Given the description of an element on the screen output the (x, y) to click on. 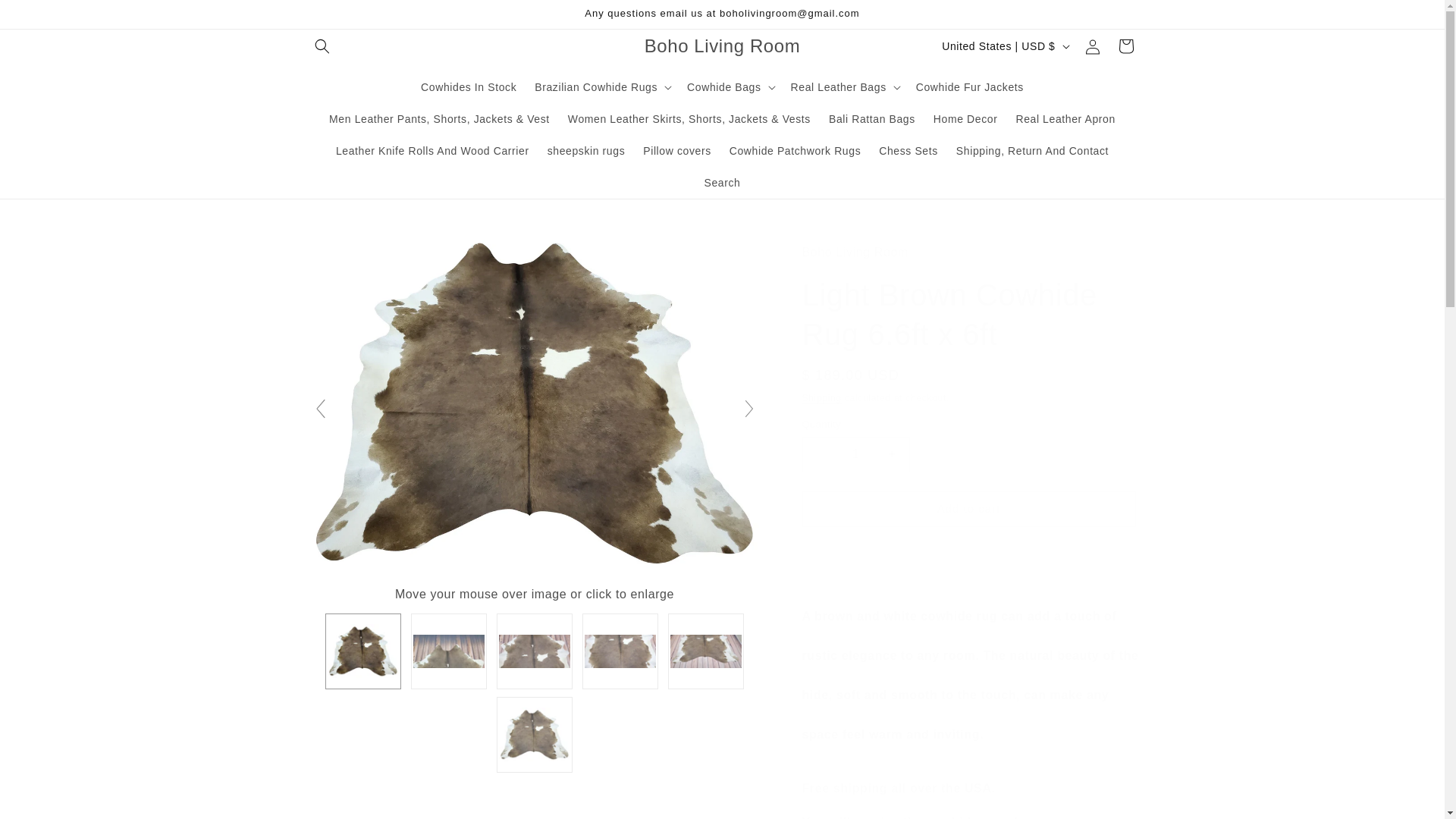
Light Brown Cowhide Rug 6.6ft x 6ft (534, 651)
Light Brown Cowhide Rug 6.6ft x 6ft (620, 651)
Previous slide (319, 408)
Light Brown Cowhide Rug 6.6ft x 6ft (448, 651)
1 (856, 454)
Next slide (748, 408)
Skip to content (45, 17)
Light Brown Cowhide Rug 6.6ft x 6ft (706, 651)
Light Brown Cowhide Rug 6.6ft x 6ft (534, 734)
